Given the description of an element on the screen output the (x, y) to click on. 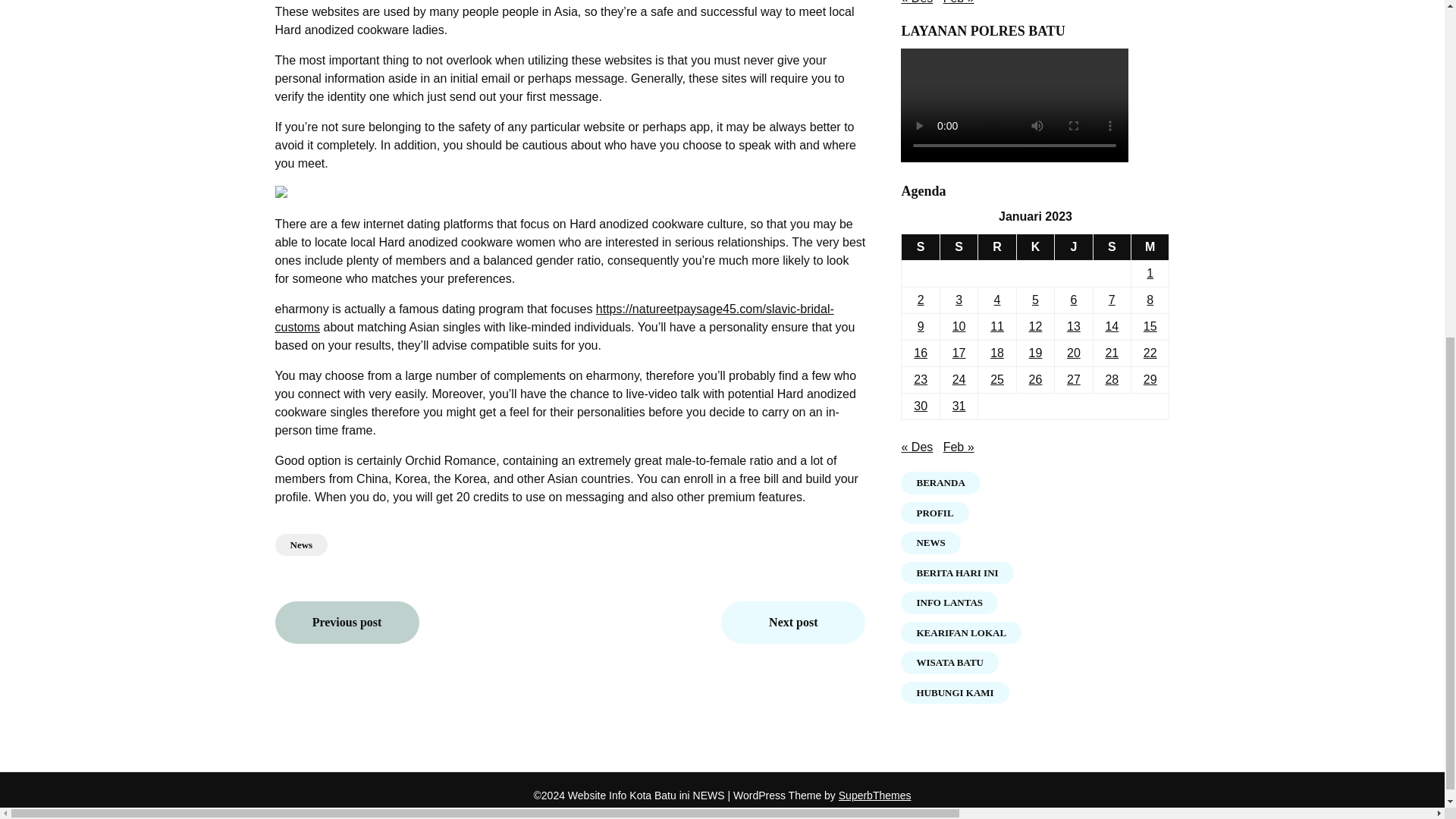
Selasa (957, 247)
Next post (792, 622)
Jumat (1073, 247)
News (301, 544)
Previous post (347, 622)
Rabu (997, 247)
Senin (920, 247)
Sabtu (1112, 247)
Minggu (1150, 247)
Kamis (1035, 247)
